Given the description of an element on the screen output the (x, y) to click on. 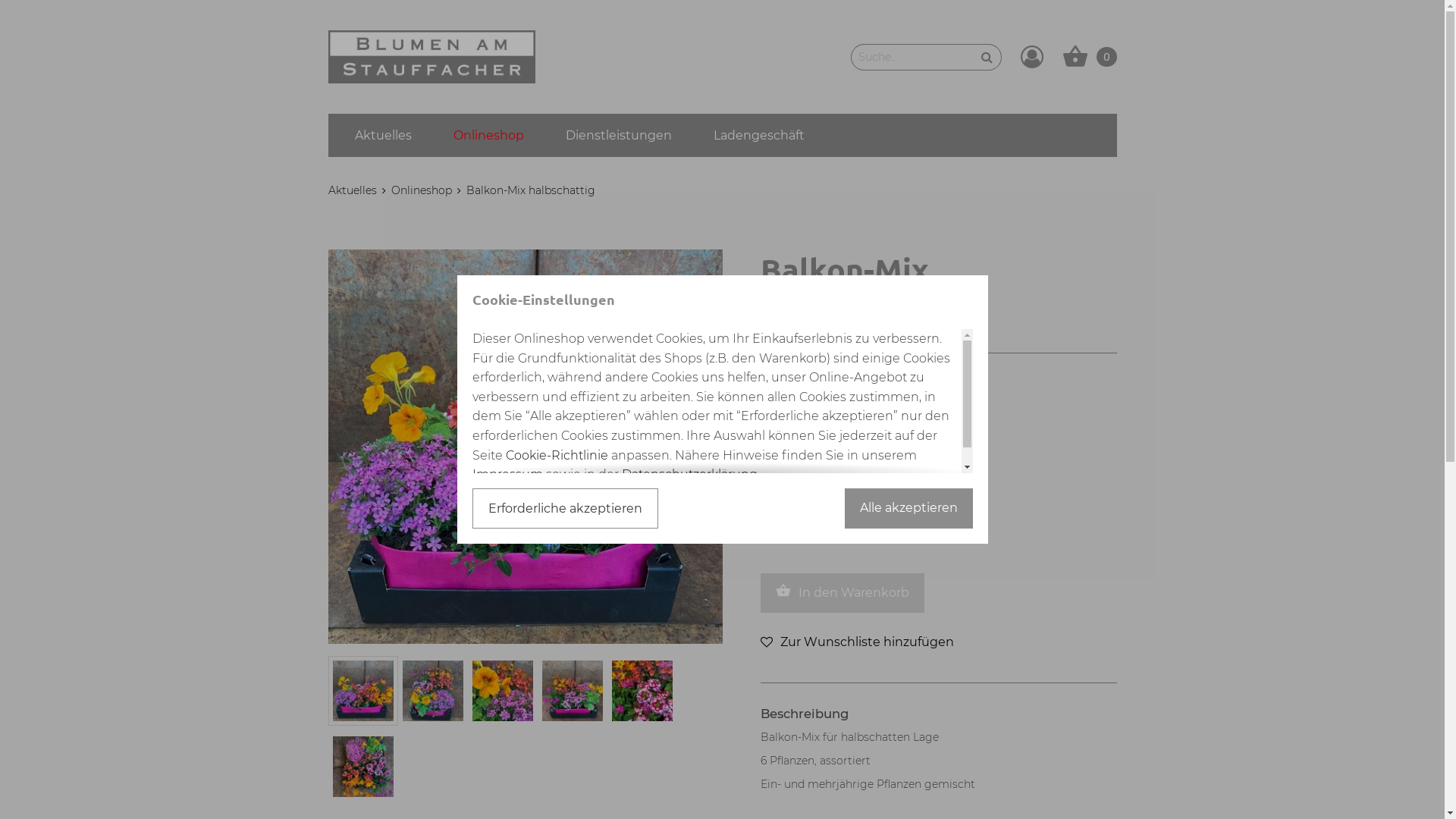
Balkon-Mix halbschattig Element type: text (529, 190)
Aktuelles Element type: text (351, 190)
Suche Element type: text (986, 56)
Onlineshop Element type: text (421, 190)
Aktuelles Element type: text (382, 135)
Onlineshop Element type: text (488, 135)
Impressum Element type: text (506, 474)
In den Warenkorb Element type: text (841, 592)
Alle akzeptieren Element type: text (908, 508)
Dienstleistungen Element type: text (618, 135)
Erforderliche akzeptieren Element type: text (564, 508)
zzgl. Versand Element type: text (856, 413)
www.blumenamstauffacher.ch Element type: hover (431, 56)
Warenkorb anzeigen. Sie haben 0 Artikel im Warenkorb.
0 Element type: text (1089, 56)
Cookie-Richtlinie Element type: text (556, 455)
